Given the description of an element on the screen output the (x, y) to click on. 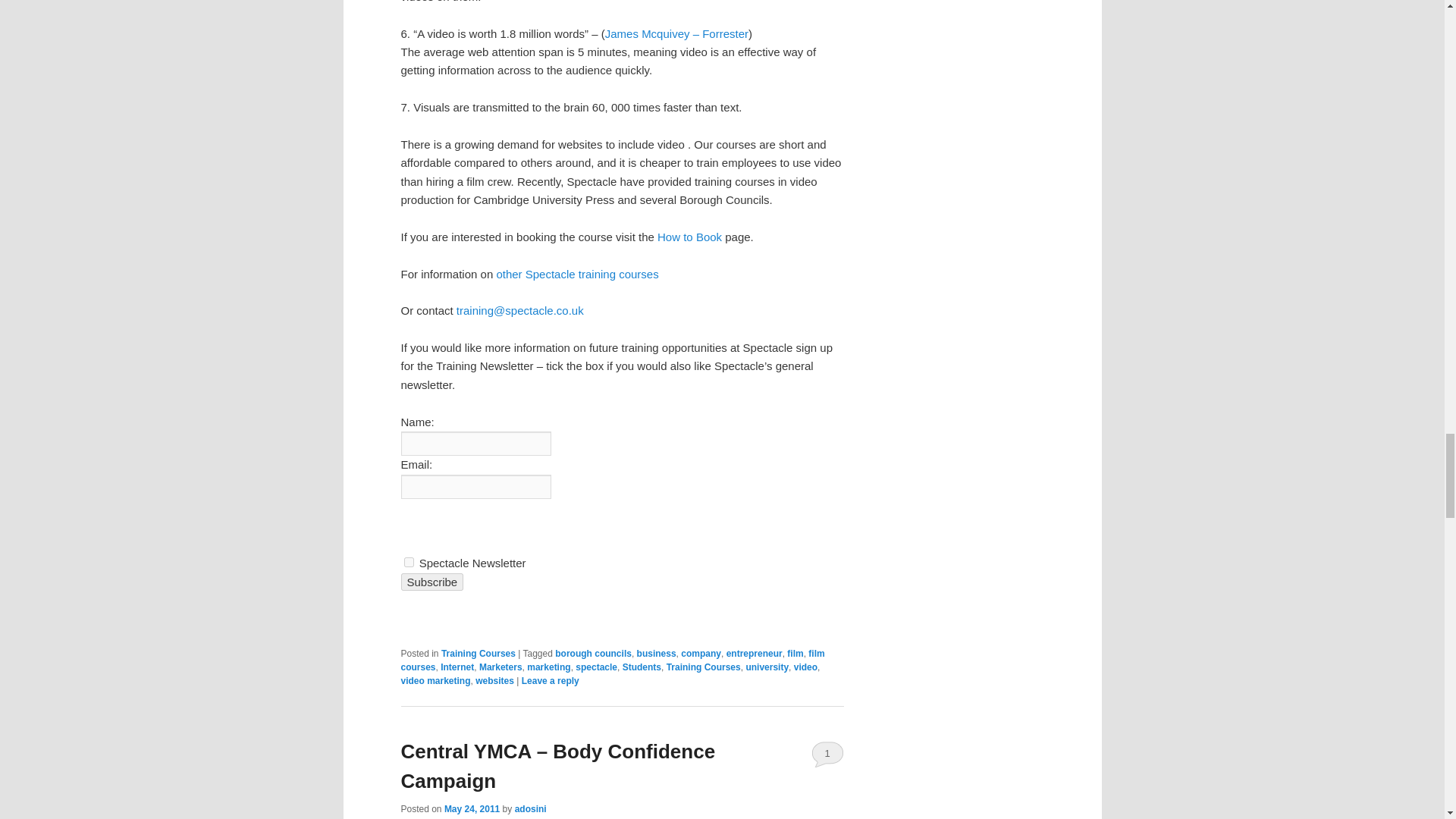
1:21 pm (471, 808)
Subscribe (431, 581)
on (408, 562)
View all posts by adosini (531, 808)
